Given the description of an element on the screen output the (x, y) to click on. 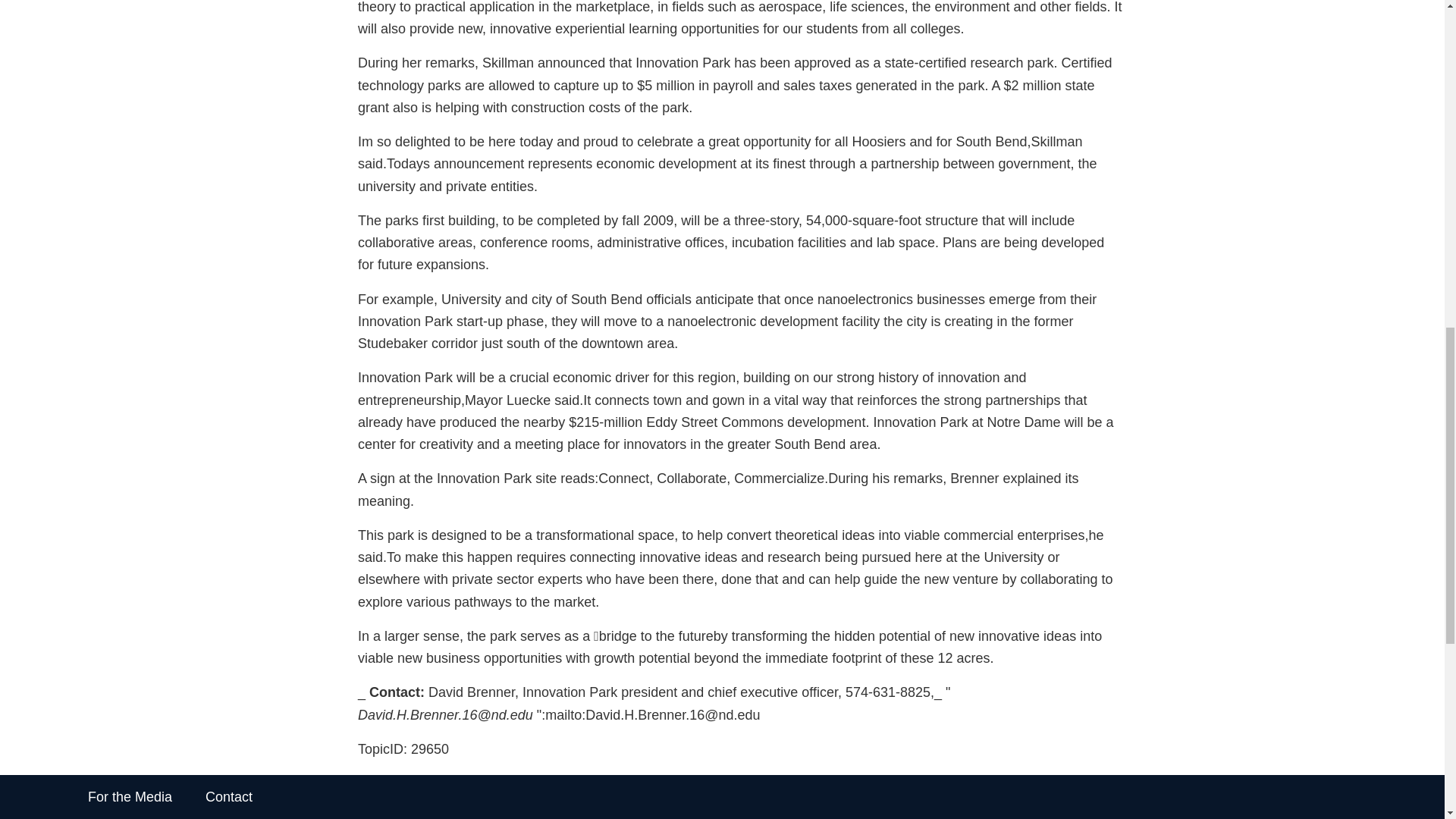
Facebook (983, 811)
LinkedIn (1021, 811)
Email (1096, 811)
